Given the description of an element on the screen output the (x, y) to click on. 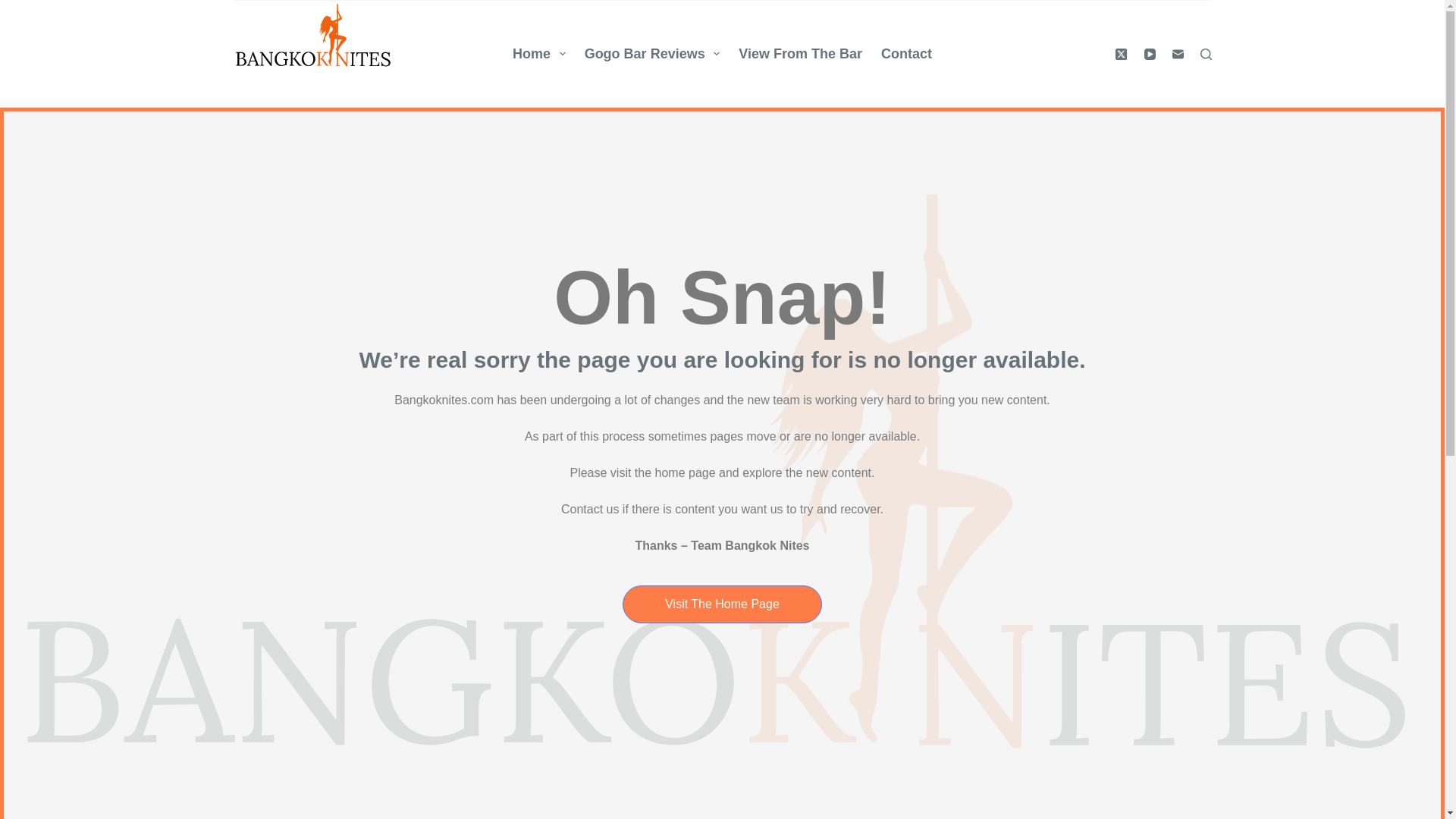
Gogo Bar Reviews (652, 53)
View From The Bar (800, 53)
Visit The Home Page (722, 604)
Skip to content (15, 7)
